Given the description of an element on the screen output the (x, y) to click on. 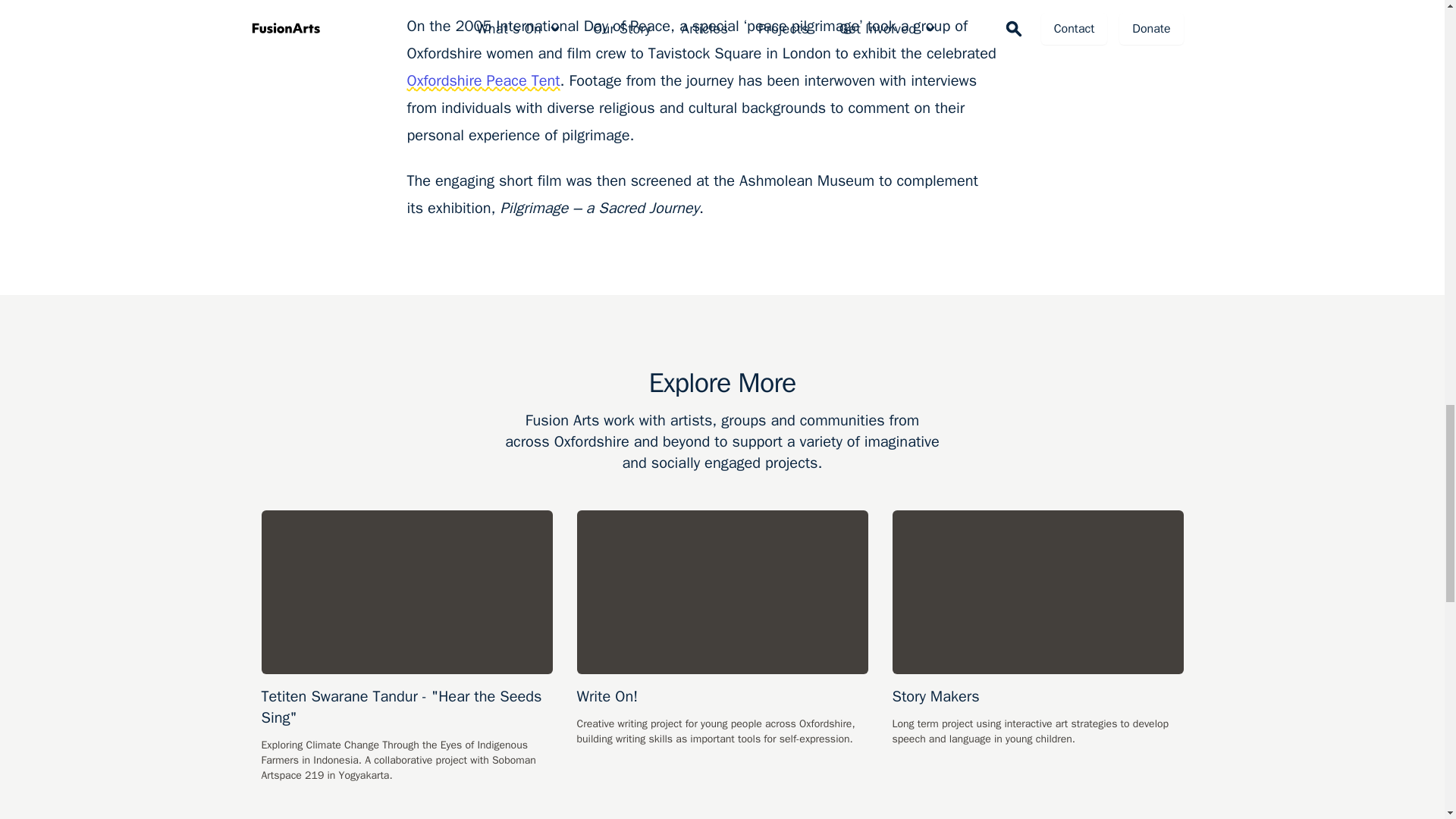
Oxfordshire Peace Tent (482, 80)
Write On! (721, 628)
Tetiten Swarane Tandur - "Hear the Seeds Sing" (405, 646)
Explore More (720, 382)
Story Makers (1036, 628)
